Given the description of an element on the screen output the (x, y) to click on. 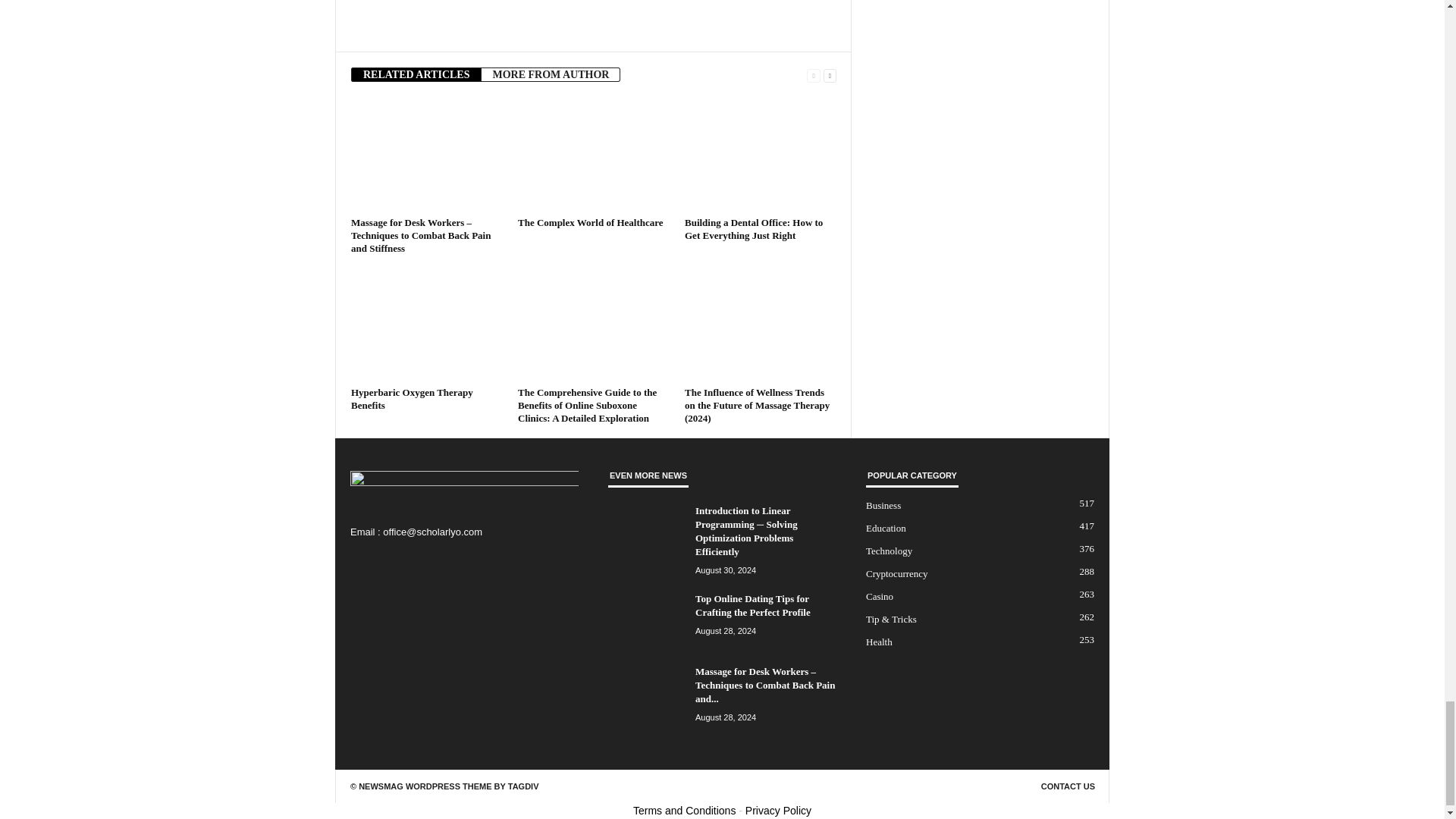
The Complex World of Healthcare (590, 222)
Building a Dental Office: How to Get Everything Just Right (759, 154)
The Complex World of Healthcare (593, 154)
